Given the description of an element on the screen output the (x, y) to click on. 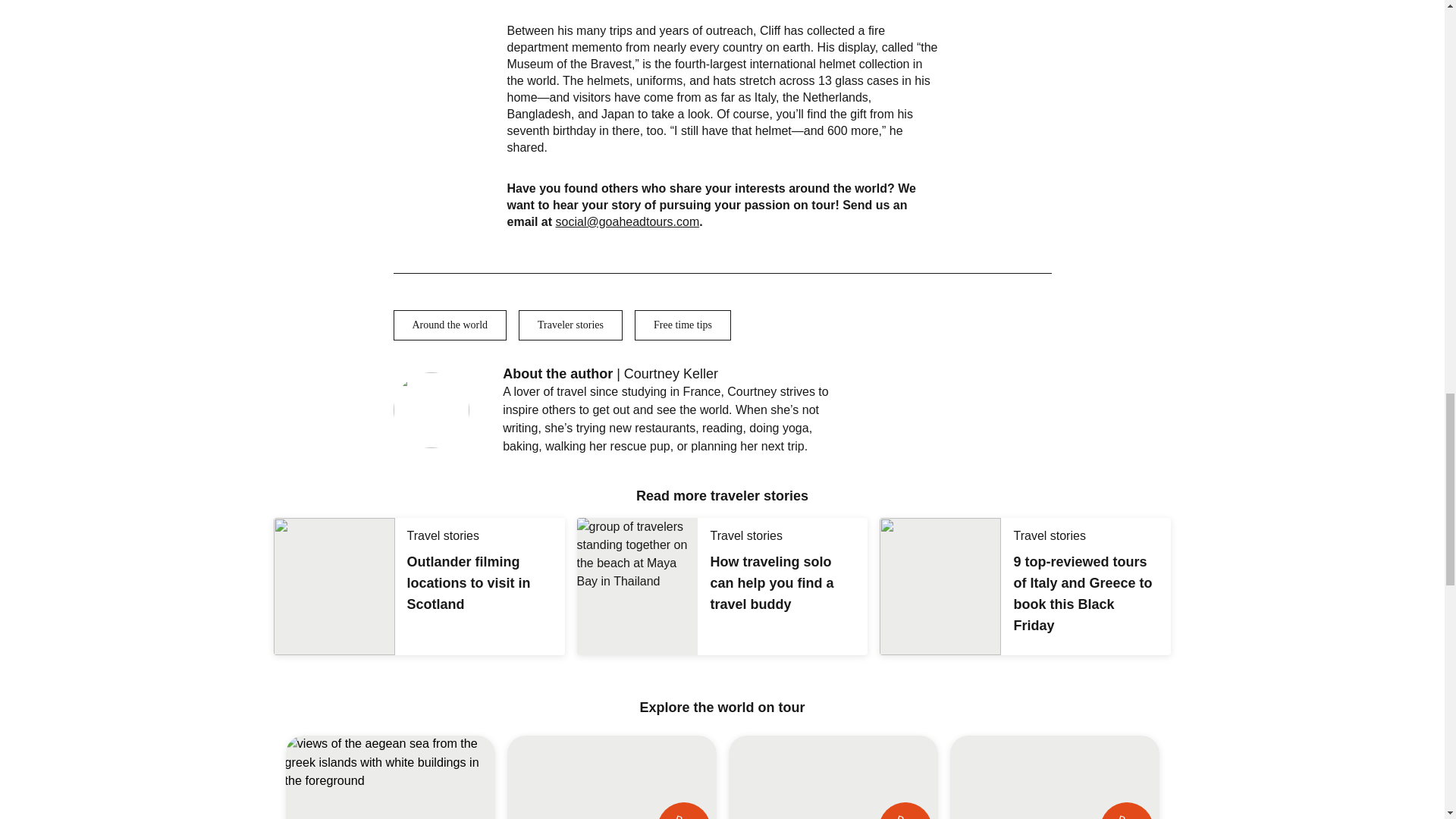
Traveler stories (570, 325)
Free time tips (682, 325)
Around the world (449, 325)
